Given the description of an element on the screen output the (x, y) to click on. 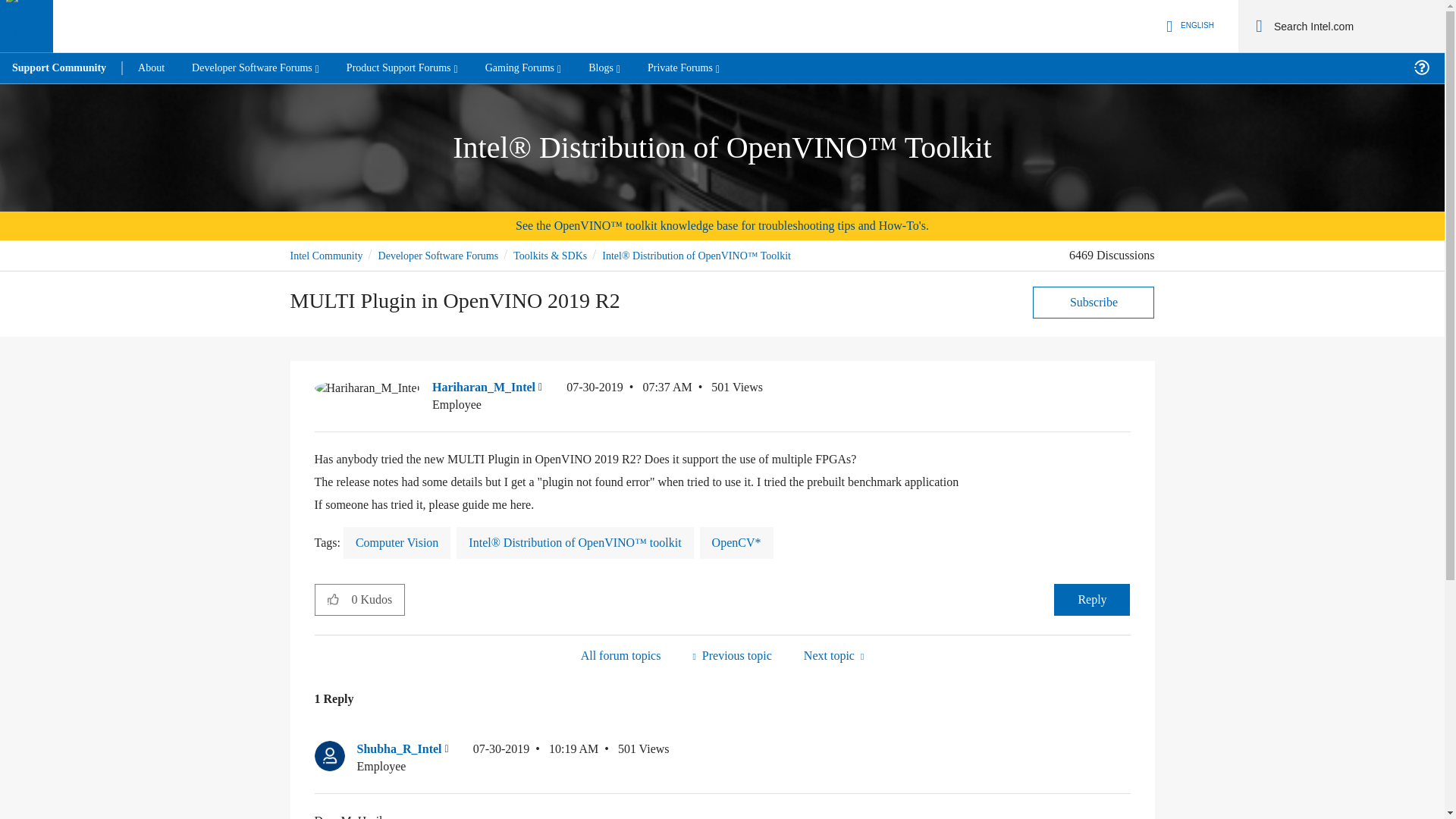
ENGLISH (1187, 26)
Search (1259, 26)
Click here to give kudos to this post. (332, 598)
Posted on (535, 757)
Language Selector (1187, 26)
The total number of kudos this post has received. (377, 599)
Posted on (629, 396)
Text Detection Demo with Webcam on Windows (731, 655)
About (150, 68)
